Given the description of an element on the screen output the (x, y) to click on. 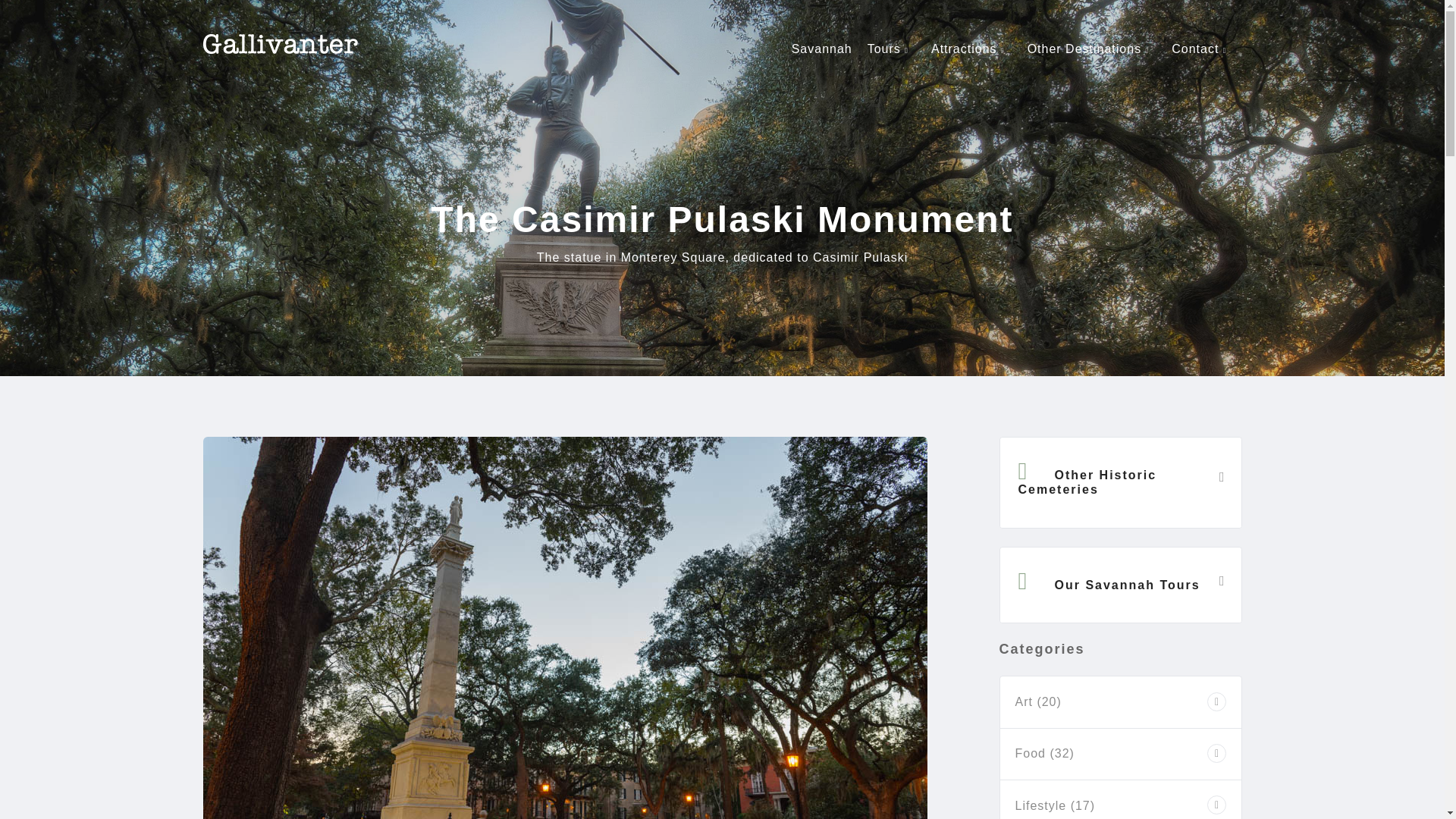
Savannah Tours (891, 48)
Other Historic Cemeteries (1119, 482)
Visiting Savannah Georgia (821, 48)
Things to do in Savannah (971, 48)
Contact (1202, 48)
Savannah (821, 48)
Other Destinations (1092, 48)
Gallivanter Tours and Travel (280, 44)
Tours (891, 48)
Attractions (971, 48)
